Given the description of an element on the screen output the (x, y) to click on. 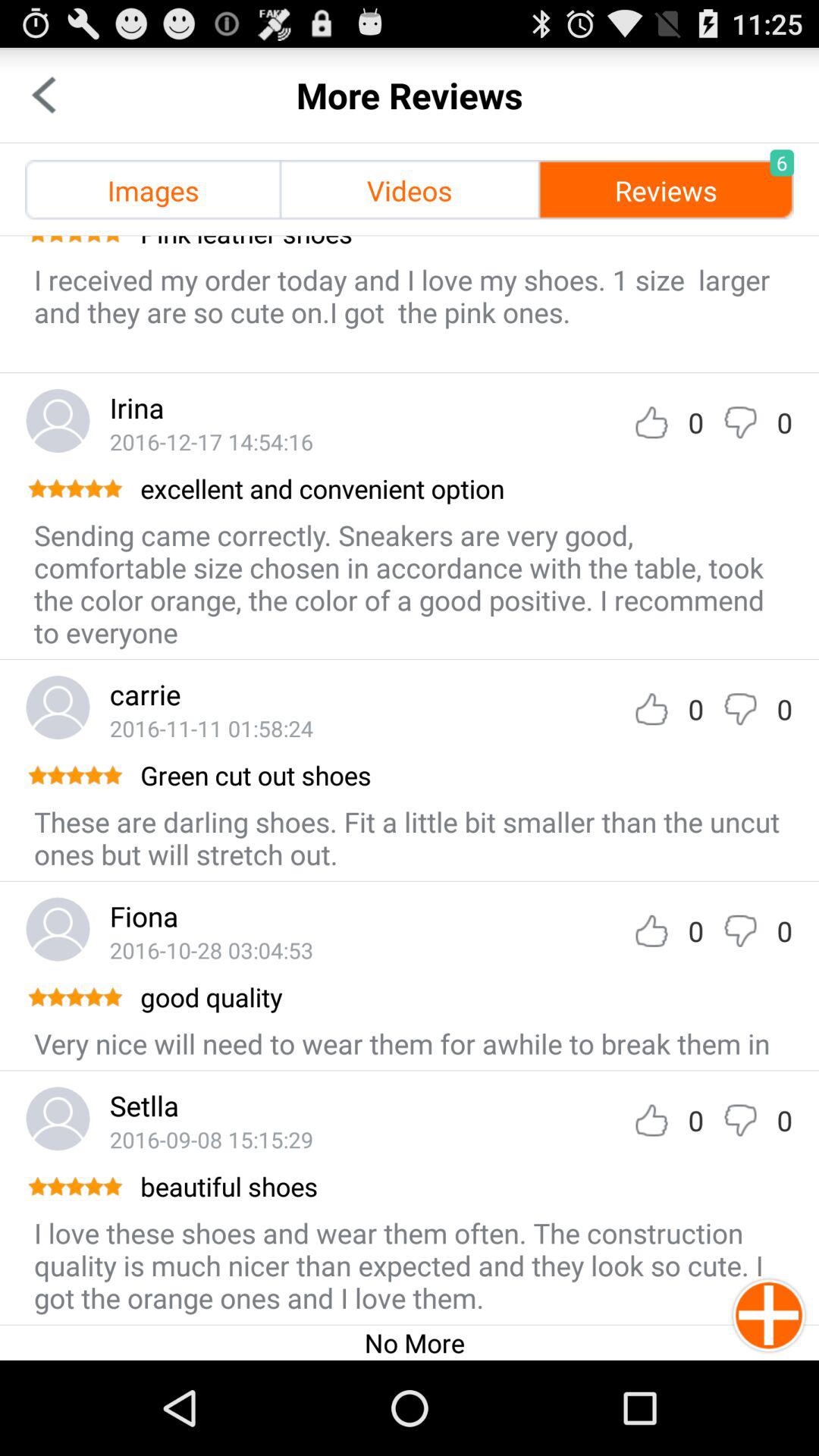
select the icon below i love these icon (414, 1342)
